Given the description of an element on the screen output the (x, y) to click on. 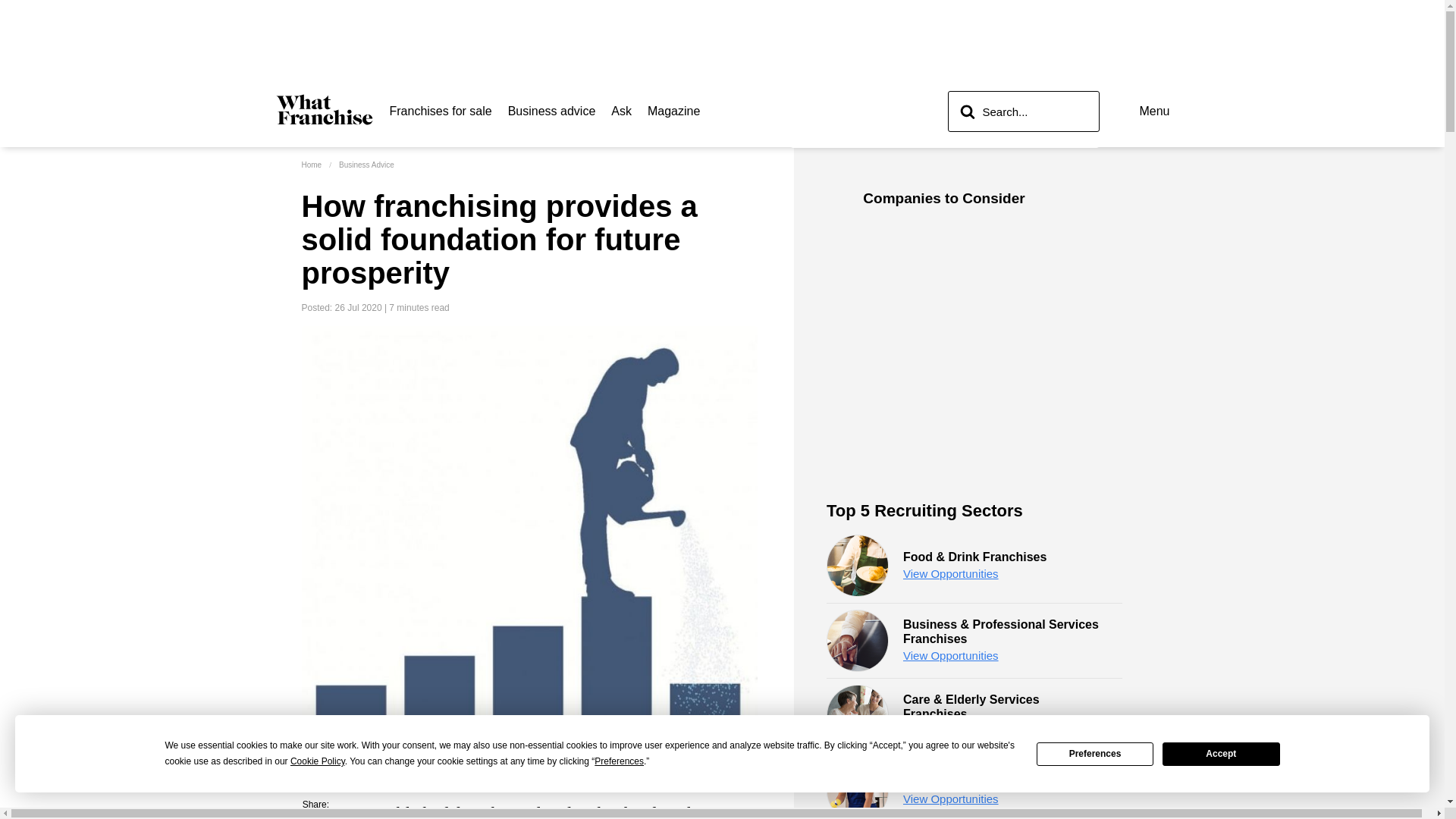
Business Advice (366, 164)
Accept (1220, 753)
Franchises for sale (441, 110)
Home (311, 164)
Ask (621, 110)
3rd party ad content (721, 41)
Business advice (551, 110)
Magazine (673, 110)
Preferences (1094, 753)
